Given the description of an element on the screen output the (x, y) to click on. 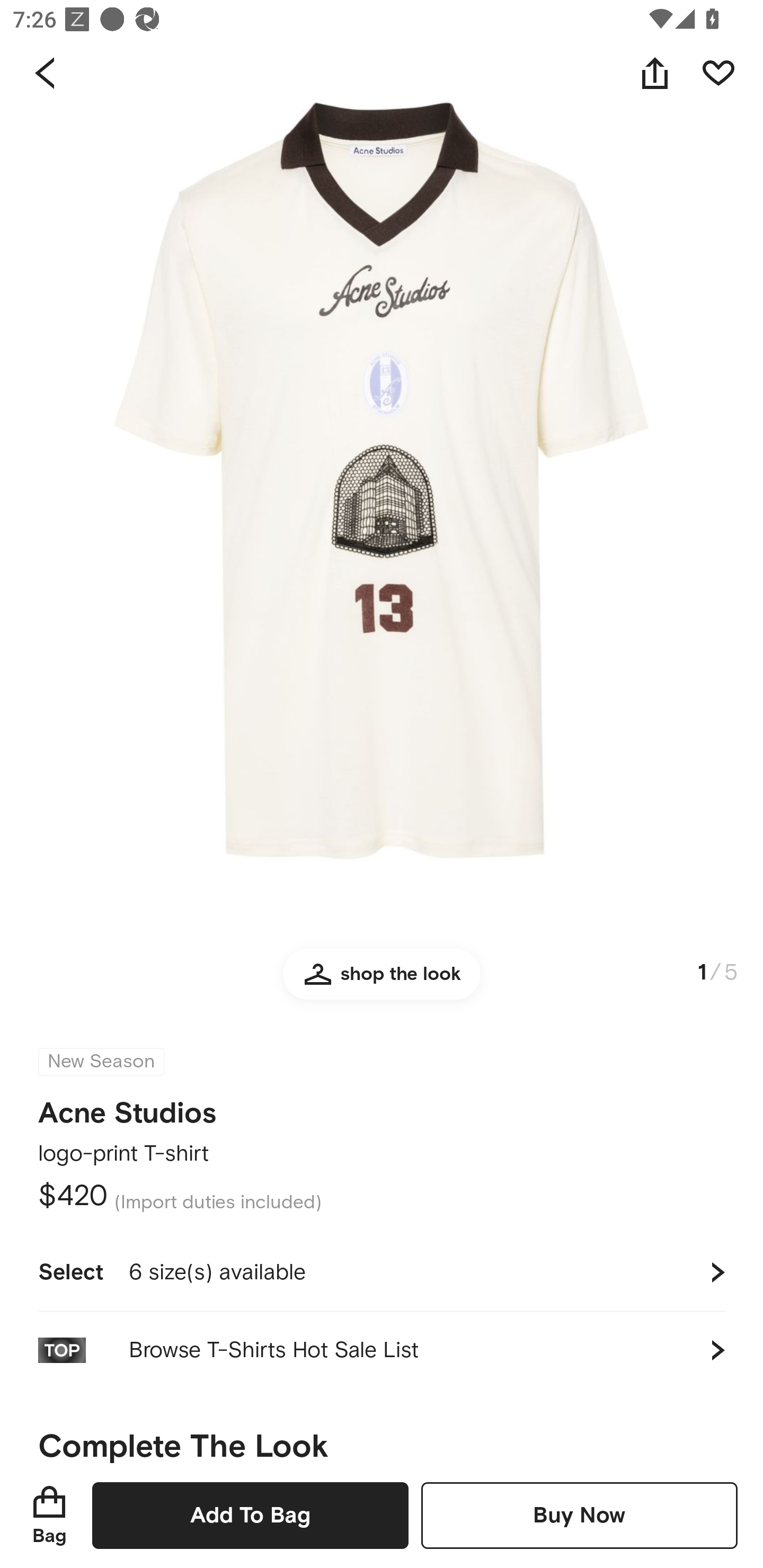
shop the look (381, 982)
Acne Studios (126, 1113)
Select 6 size(s) available (381, 1272)
Browse T-Shirts Hot Sale List (381, 1349)
Bag (49, 1515)
Add To Bag (250, 1515)
Buy Now (579, 1515)
